Given the description of an element on the screen output the (x, y) to click on. 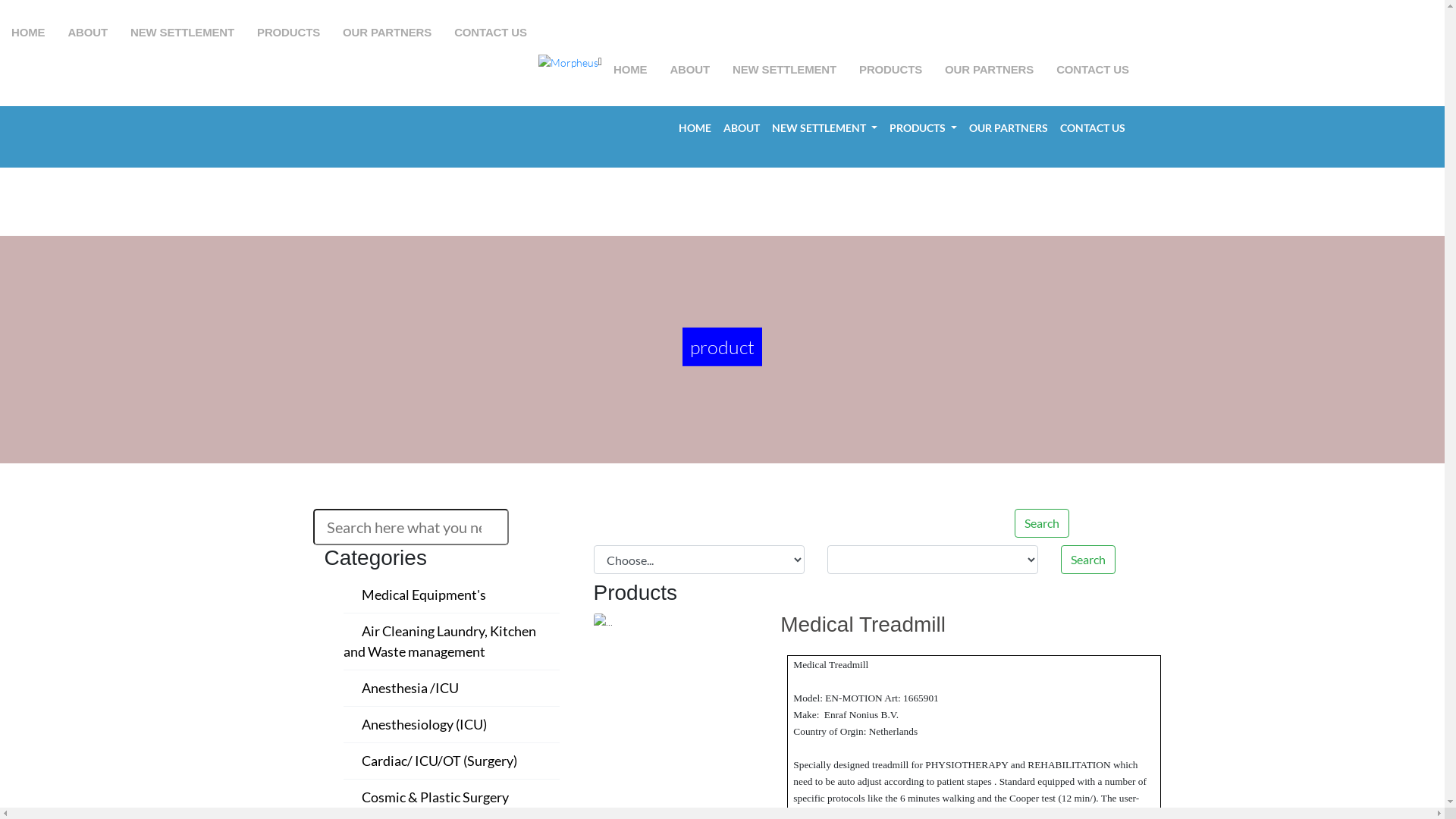
CONTACT US Element type: text (490, 32)
Search Element type: text (1041, 522)
HOME Element type: text (630, 70)
ABOUT Element type: text (87, 32)
Search Element type: text (1087, 559)
CONTACT US Element type: text (1092, 127)
Cardiac/ ICU/OT (Surgery) Element type: text (438, 760)
ABOUT Element type: text (741, 127)
HOME Element type: text (28, 32)
Medical Equipment's Element type: text (422, 594)
NEW SETTLEMENT Element type: text (784, 70)
OUR PARTNERS Element type: text (988, 70)
PRODUCTS Element type: text (923, 127)
OUR PARTNERS Element type: text (386, 32)
PRODUCTS Element type: text (288, 32)
Anesthesiology (ICU) Element type: text (423, 723)
Cosmic & Plastic Surgery Element type: text (434, 796)
NEW SETTLEMENT Element type: text (824, 127)
ABOUT Element type: text (689, 70)
HOME Element type: text (694, 127)
OUR PARTNERS Element type: text (1008, 127)
Air Cleaning Laundry, Kitchen and Waste management Element type: text (438, 640)
NEW SETTLEMENT Element type: text (182, 32)
PRODUCTS Element type: text (890, 70)
Anesthesia /ICU Element type: text (409, 687)
CONTACT US Element type: text (1092, 70)
